Given the description of an element on the screen output the (x, y) to click on. 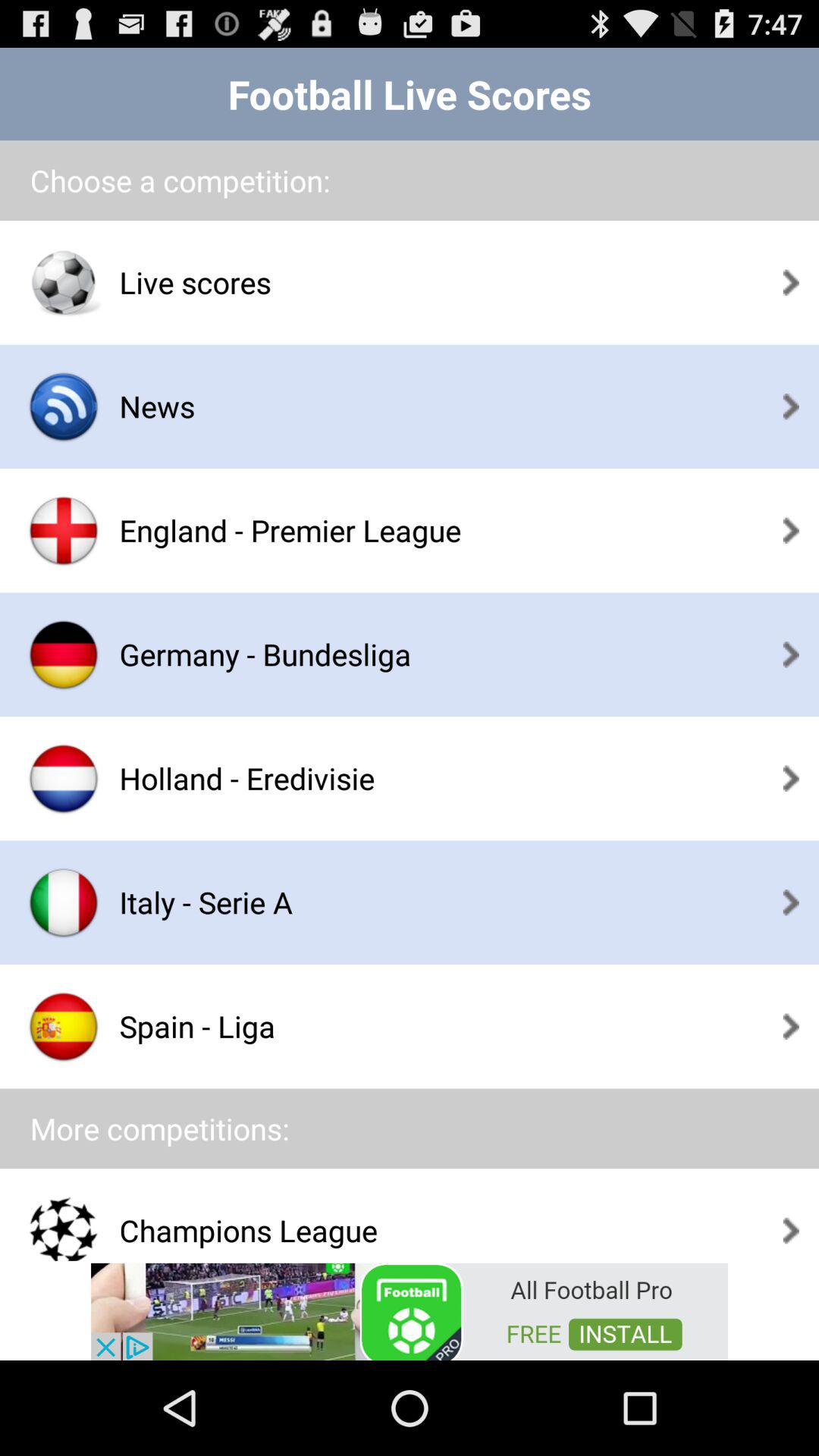
open advertisement (409, 1310)
